Given the description of an element on the screen output the (x, y) to click on. 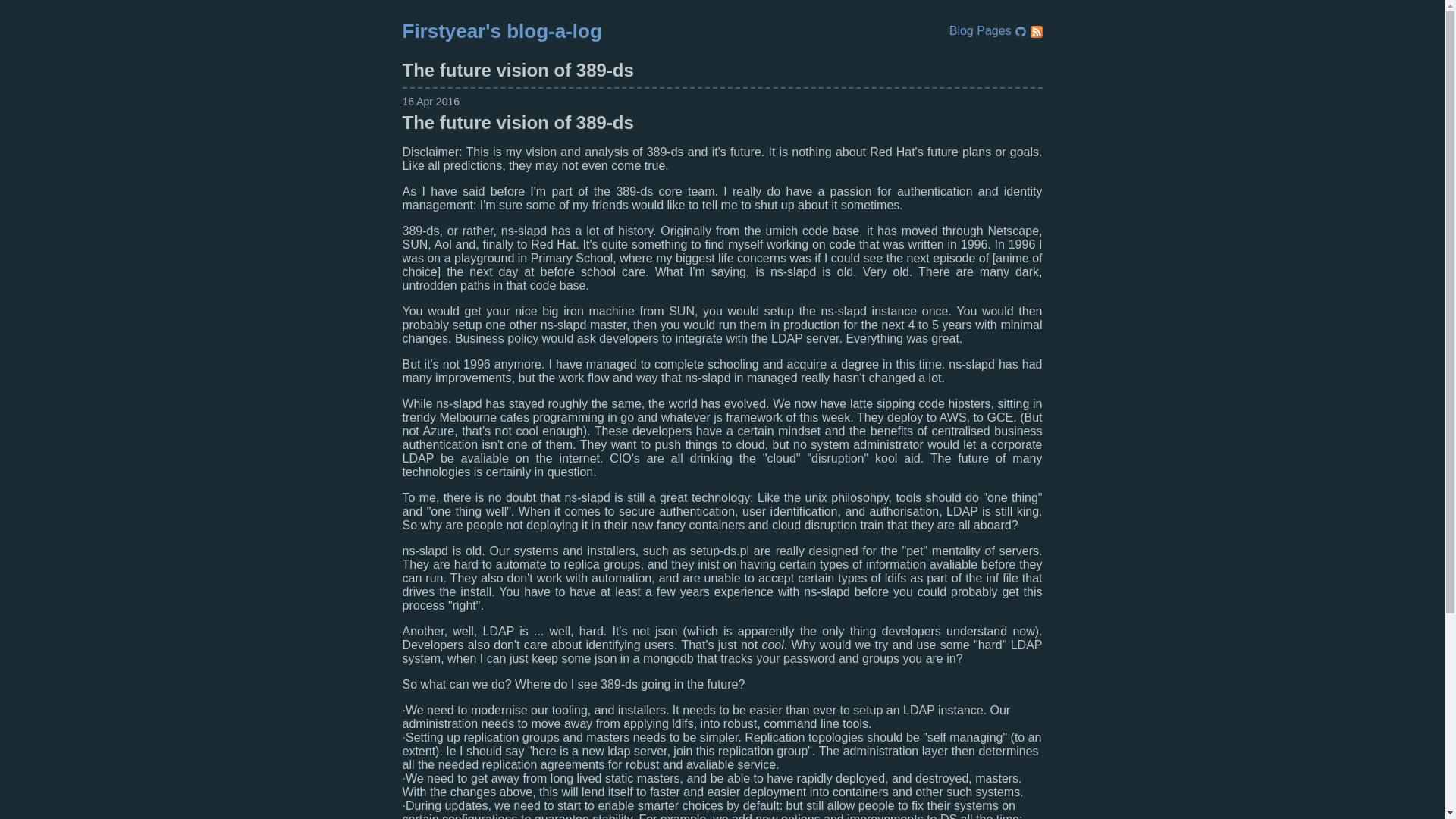
Firstyear's blog-a-log (501, 30)
Blog (962, 30)
Pages (995, 30)
